Given the description of an element on the screen output the (x, y) to click on. 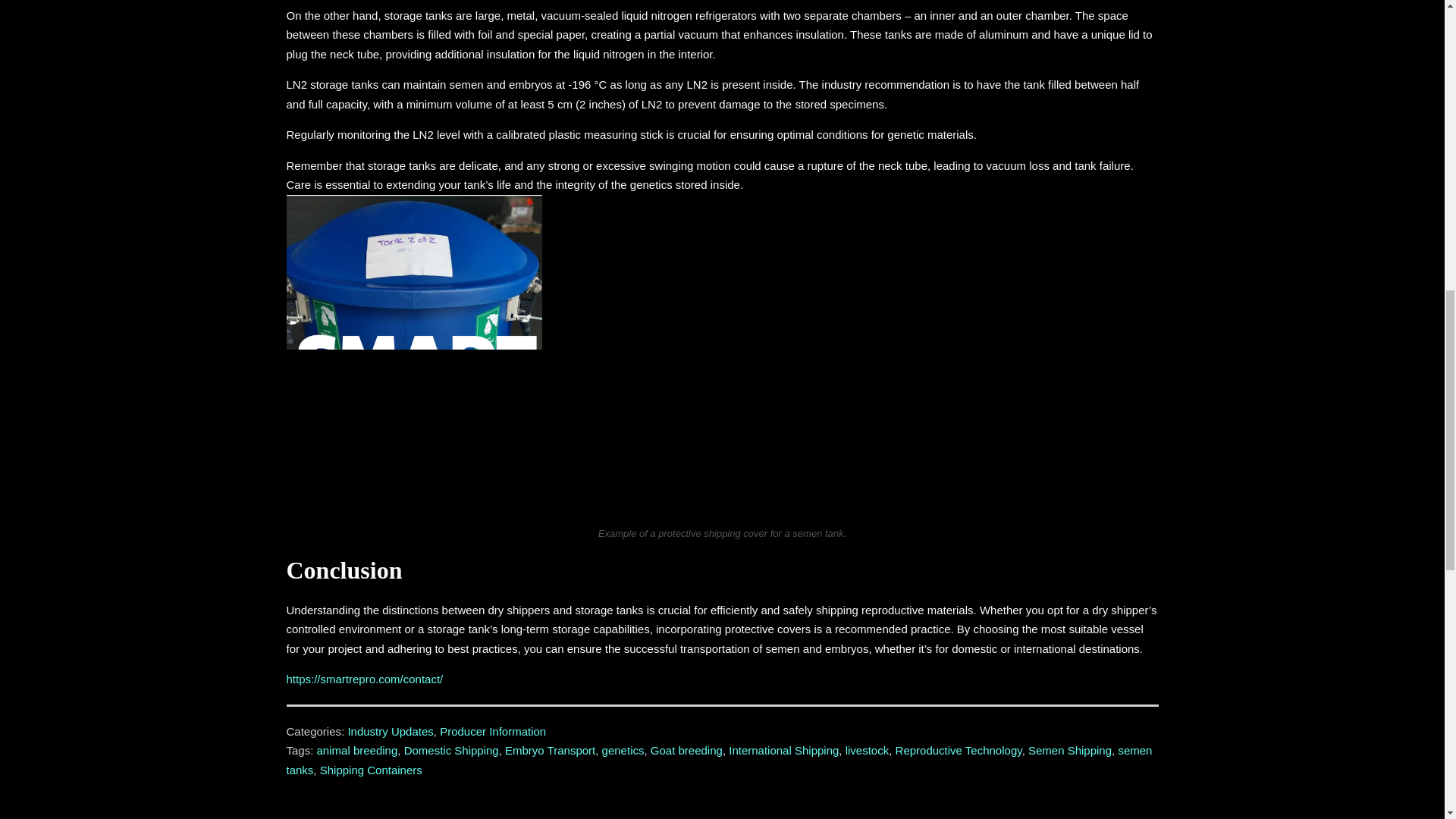
genetics (623, 749)
livestock (867, 749)
Domestic Shipping (451, 749)
Goat breeding (686, 749)
Producer Information (492, 730)
International Shipping (783, 749)
Embryo Transport (550, 749)
animal breeding (357, 749)
Semen Shipping (1069, 749)
semen tanks (719, 759)
Reproductive Technology (958, 749)
Industry Updates (389, 730)
